Given the description of an element on the screen output the (x, y) to click on. 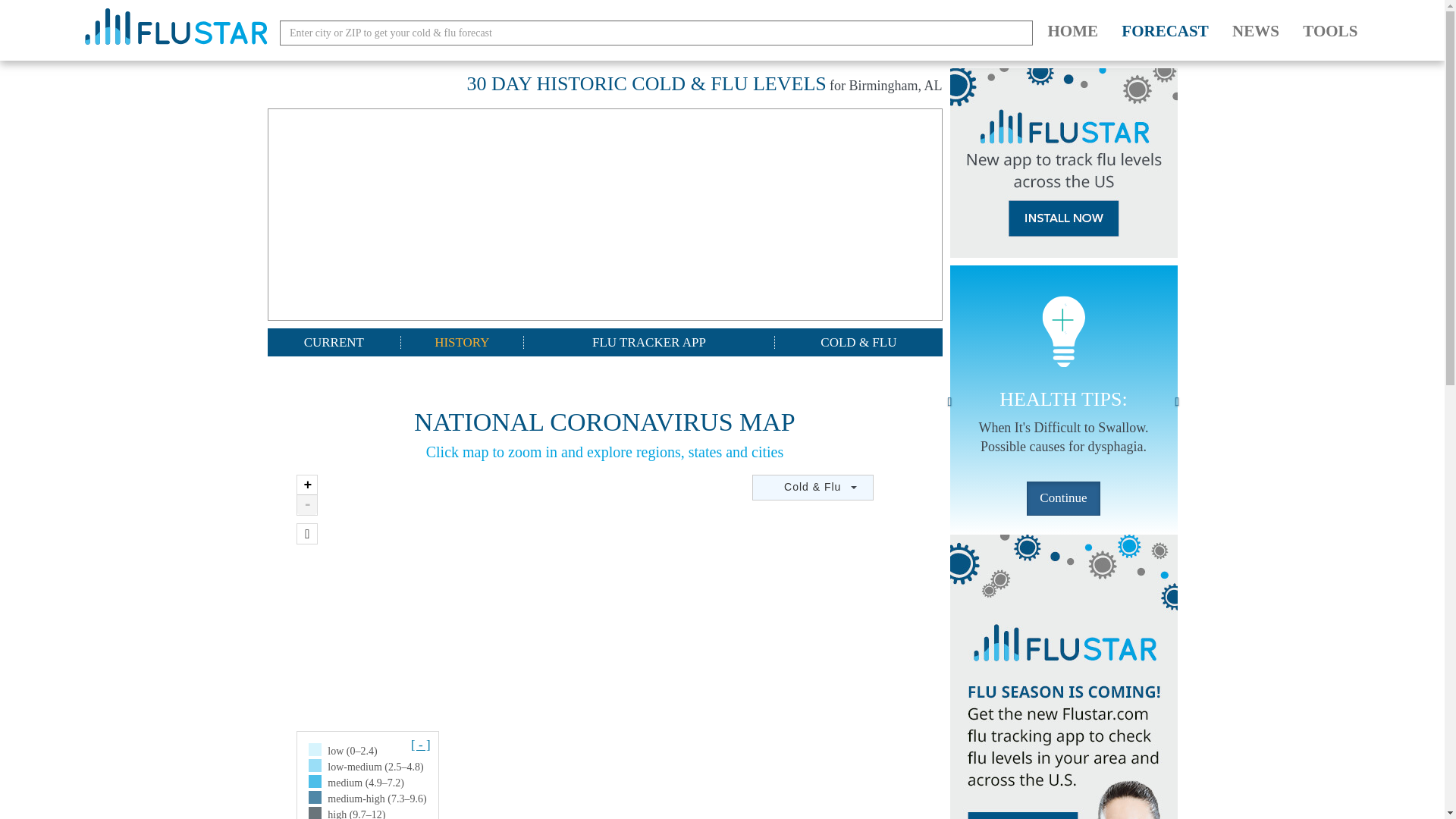
Continue (1062, 498)
NEWS (1256, 31)
Current cold conditions and top allergens (333, 341)
Previous (949, 399)
Zoom out (307, 505)
Zoom in (307, 485)
FLU TRACKER APP (650, 341)
- (307, 505)
See past pollen levels in your area (461, 341)
HISTORY (461, 341)
TOOLS (1330, 31)
